Given the description of an element on the screen output the (x, y) to click on. 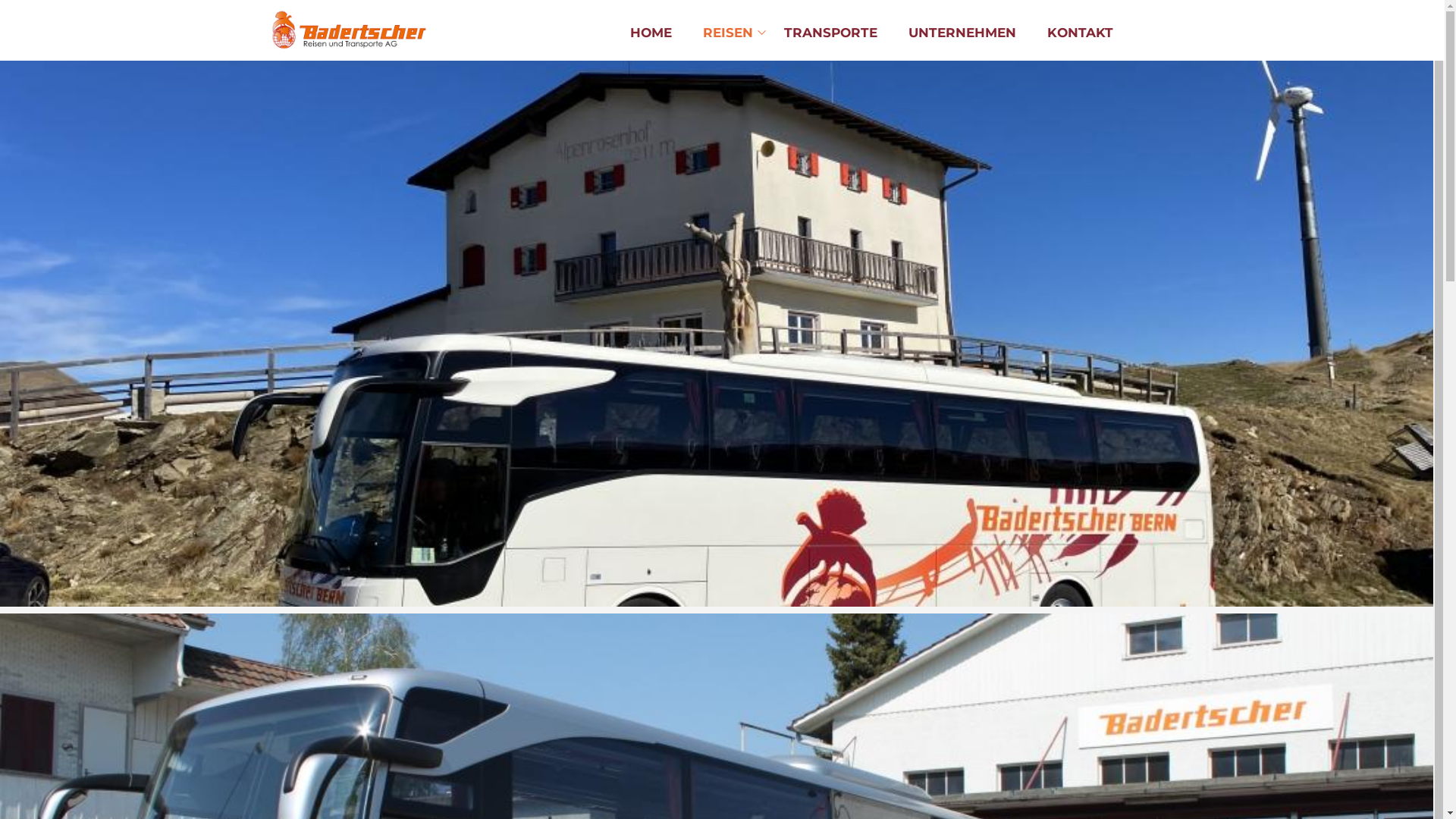
REISEN Element type: text (727, 32)
UNTERNEHMEN Element type: text (962, 32)
HOME Element type: text (650, 32)
KONTAKT Element type: text (1079, 32)
TRANSPORTE Element type: text (830, 32)
